Given the description of an element on the screen output the (x, y) to click on. 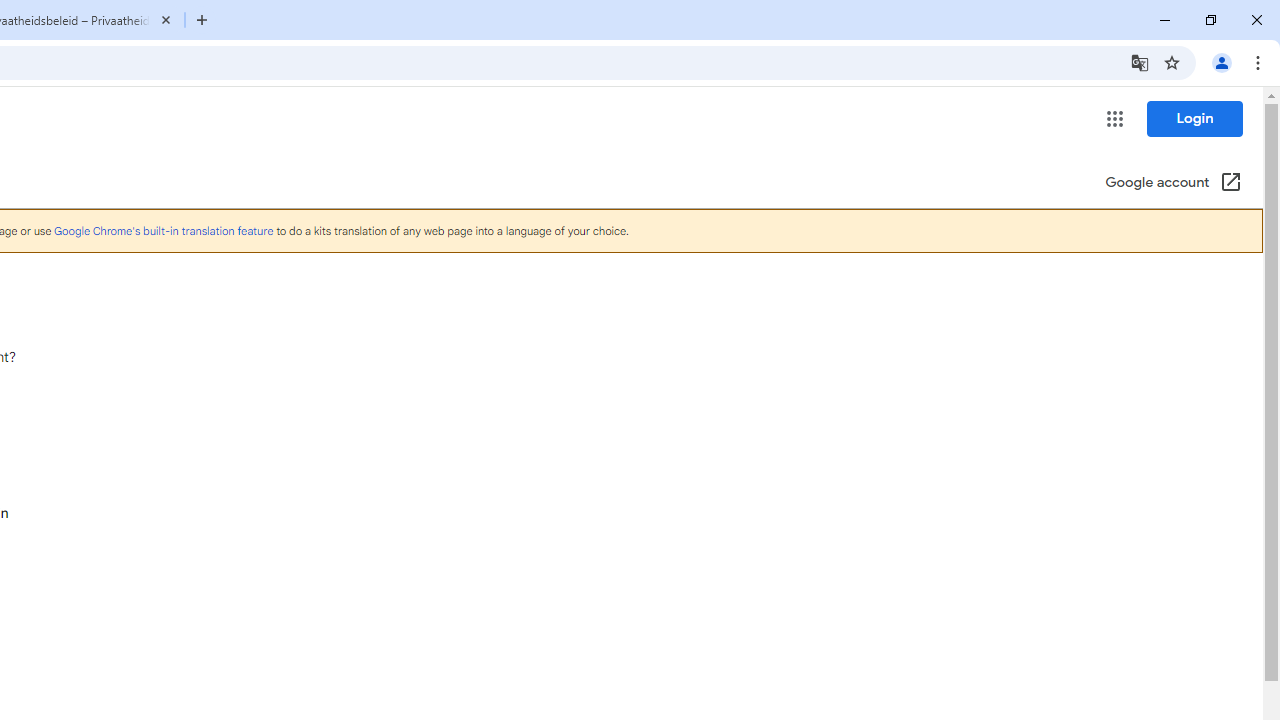
Google Chrome's built-in translation feature (163, 230)
Login (1194, 118)
Google Account (Opens in new window) (1173, 183)
Translate this page (1139, 62)
